Given the description of an element on the screen output the (x, y) to click on. 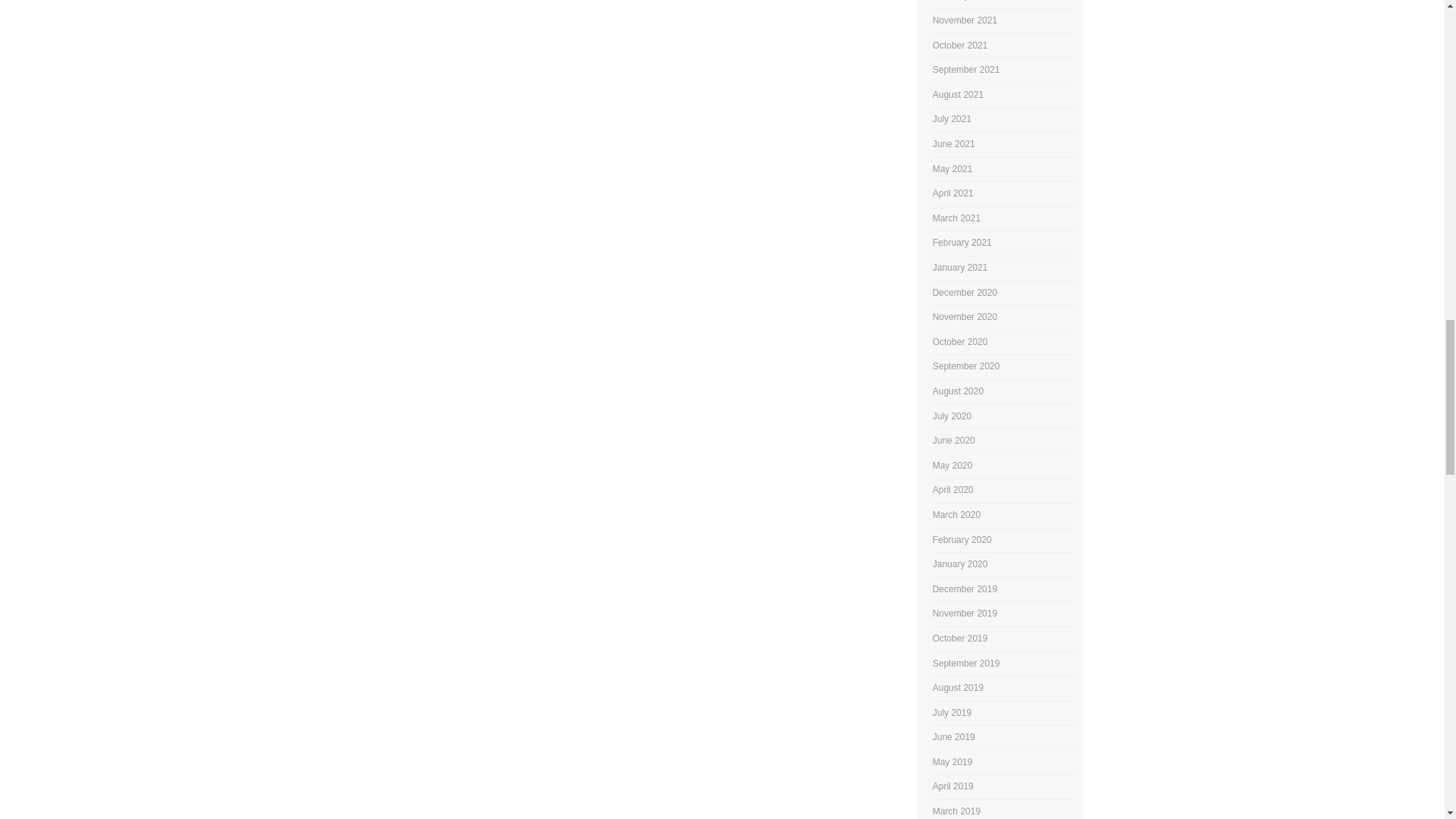
November 2021 (965, 20)
February 2022 (962, 0)
